Given the description of an element on the screen output the (x, y) to click on. 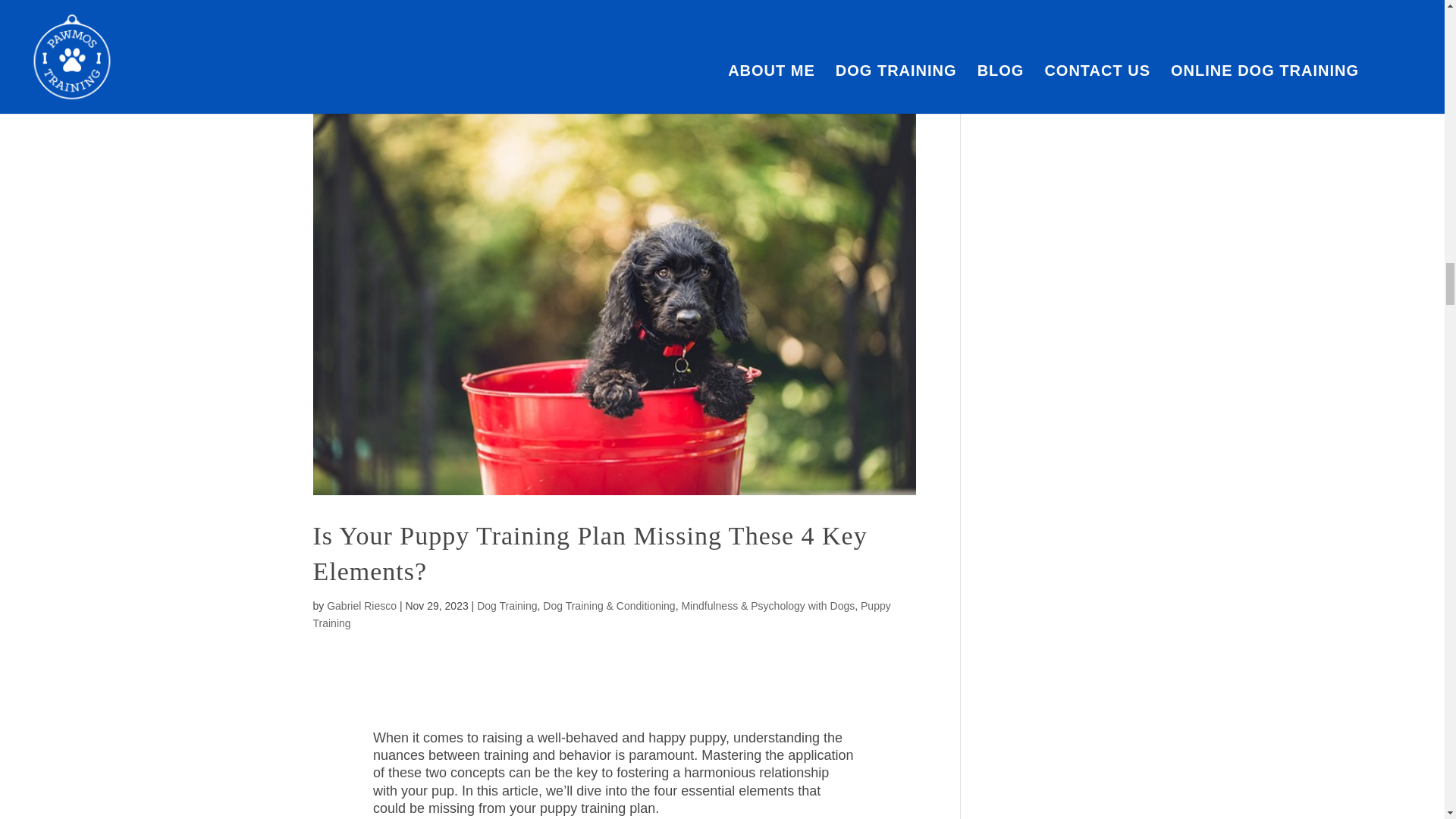
Gabriel Riesco (361, 605)
Is Your Puppy Training Plan Missing These 4 Key Elements? (589, 553)
Posts by Gabriel Riesco (361, 605)
Dog Training (507, 605)
Puppy Training (601, 614)
